Given the description of an element on the screen output the (x, y) to click on. 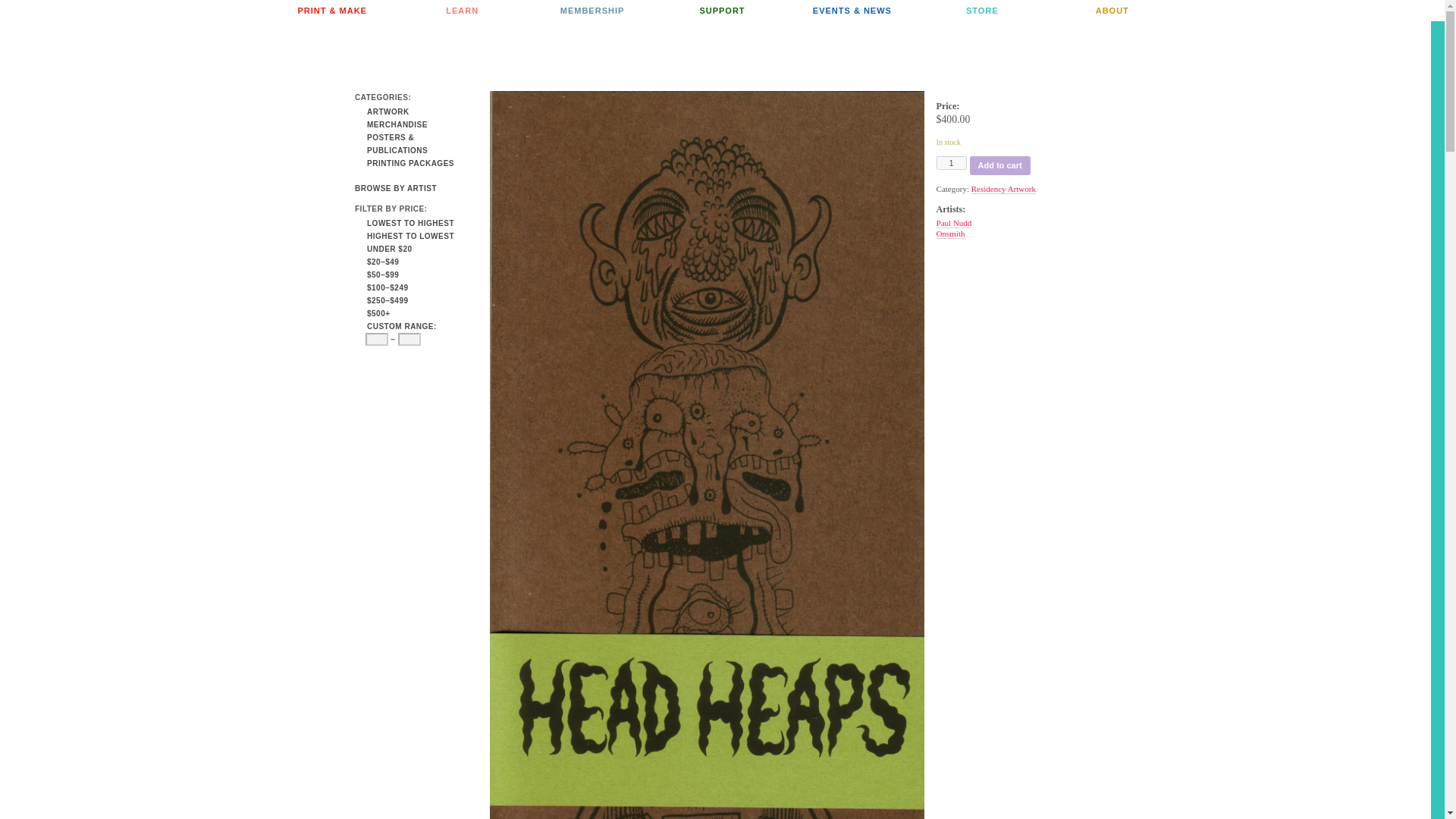
ARTWORK (382, 111)
MEMBERSHIP (591, 10)
MERCHANDISE (391, 124)
Spudnik Press (714, 56)
STORE (981, 10)
LEARN (462, 10)
SUPPORT (722, 10)
ABOUT (1111, 10)
1 (951, 162)
